Given the description of an element on the screen output the (x, y) to click on. 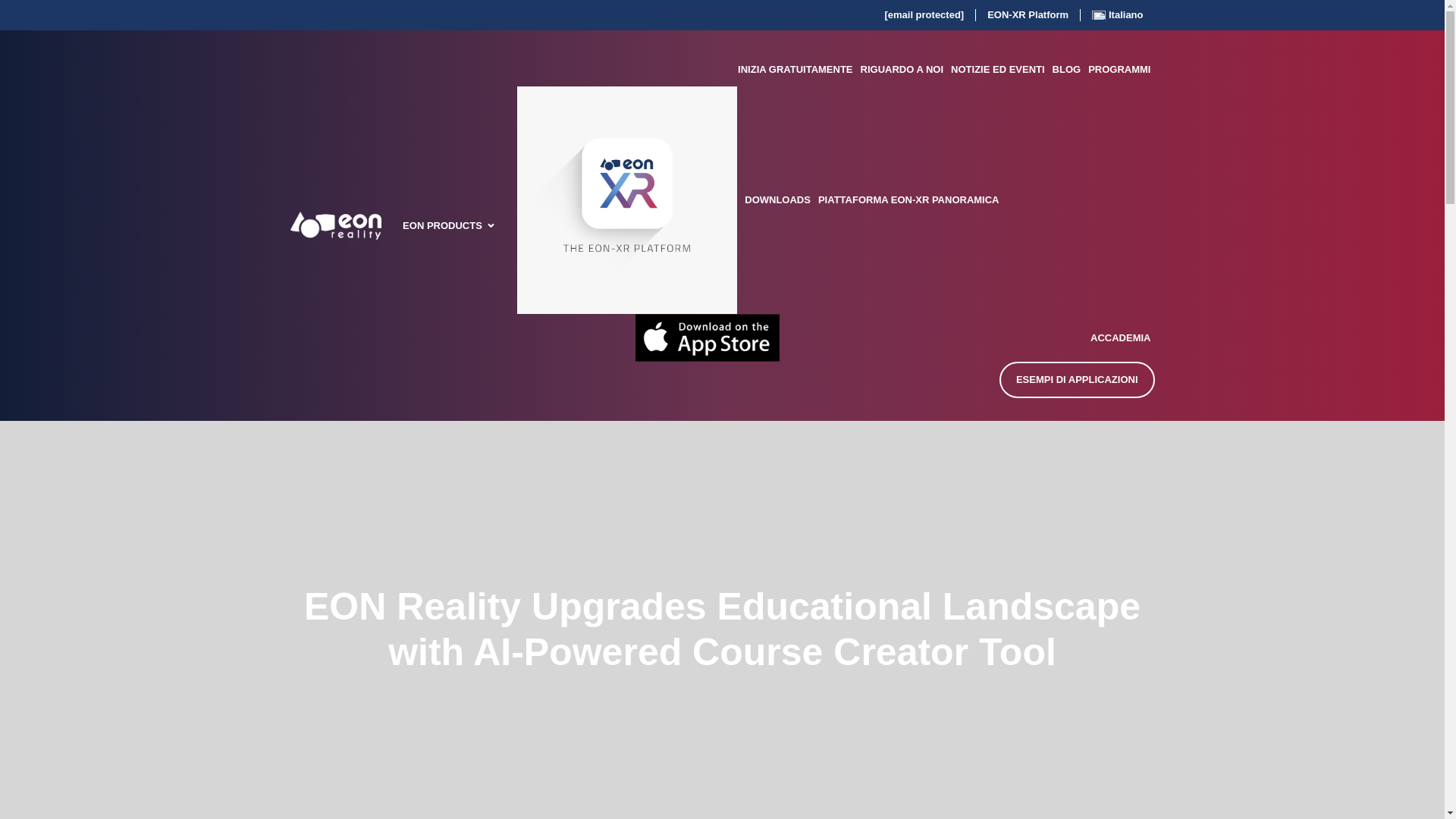
EON PRODUCTS (442, 225)
Italiano (1117, 14)
Italiano (1117, 14)
EON-XR Platform (1027, 14)
